Given the description of an element on the screen output the (x, y) to click on. 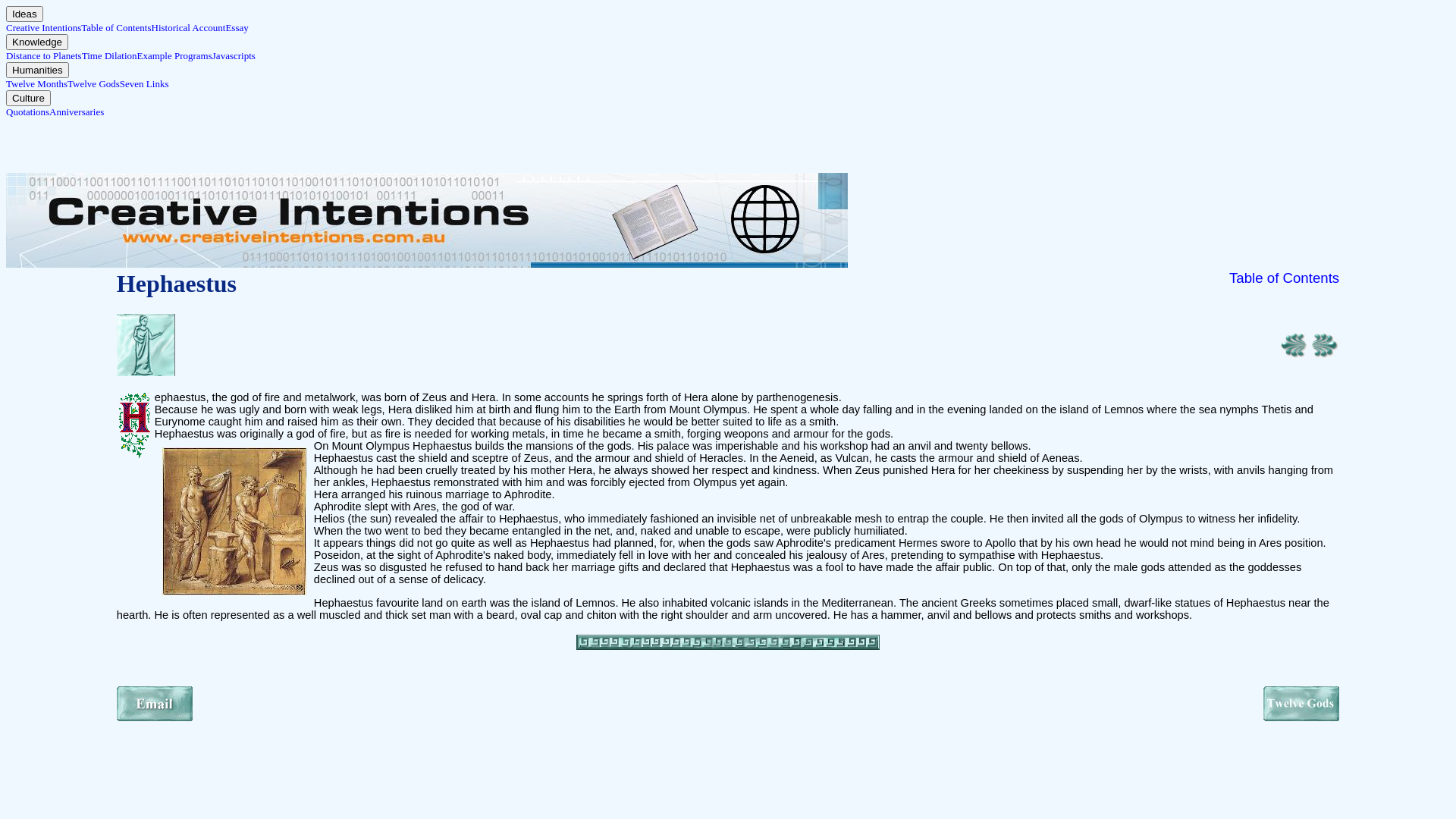
Seven Links Element type: text (144, 83)
Table of Contents Element type: text (115, 27)
Humanities Element type: text (37, 70)
Javascripts Element type: text (233, 55)
Example Programs Element type: text (173, 55)
Twelve Gods Element type: text (93, 83)
Distance to Planets Element type: text (43, 55)
Twelve Months Element type: text (36, 83)
Anniversaries Element type: text (76, 111)
Time Dilation Element type: text (109, 55)
Knowledge Element type: text (37, 42)
Quotations Element type: text (27, 111)
Ideas Element type: text (24, 13)
Culture Element type: text (28, 98)
Essay Element type: text (236, 27)
Creative Intentions Element type: text (43, 27)
Table of Contents Element type: text (1284, 277)
Historical Account Element type: text (188, 27)
